Given the description of an element on the screen output the (x, y) to click on. 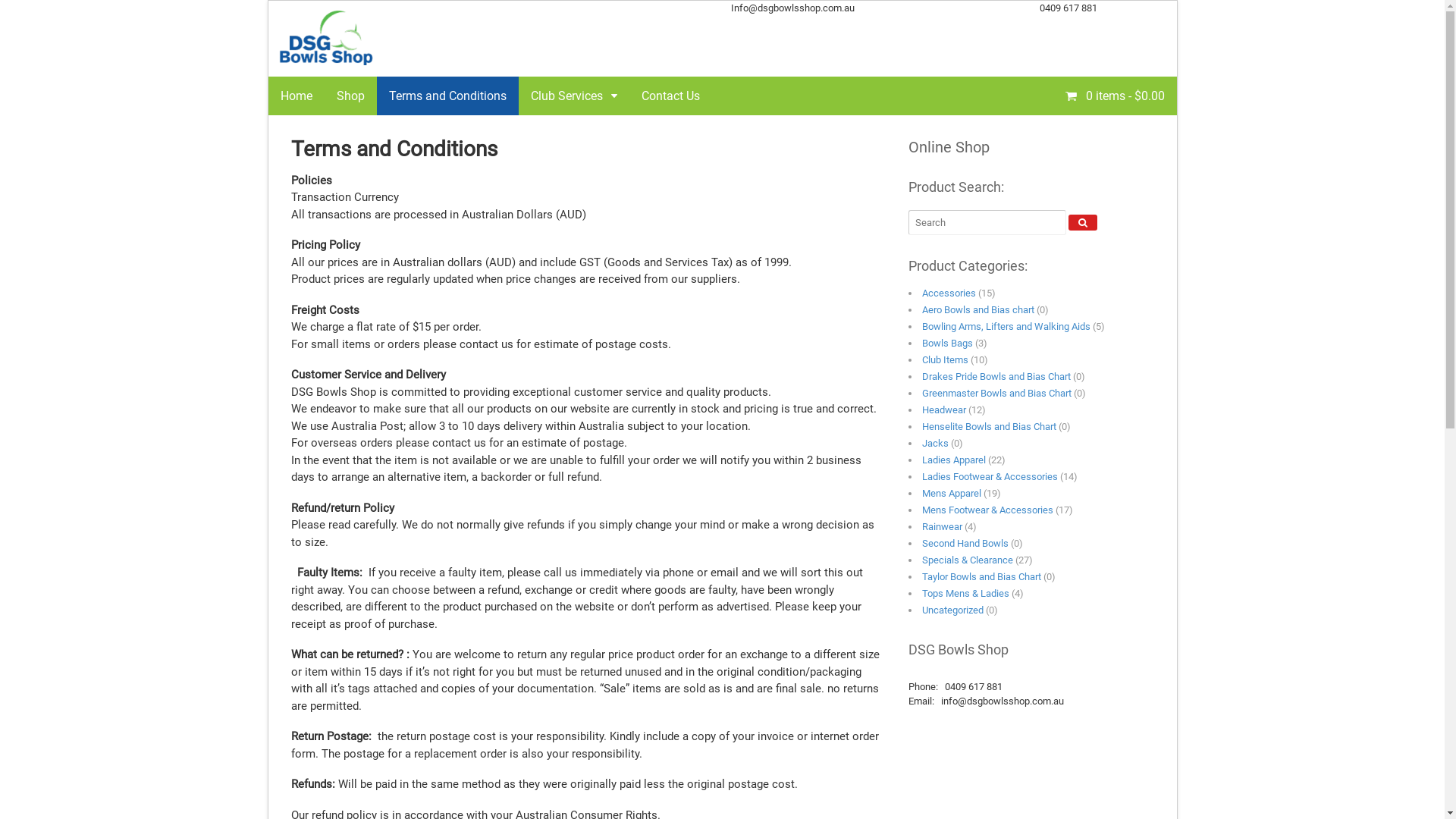
Ladies Apparel Element type: text (953, 459)
Headwear Element type: text (944, 409)
Jacks Element type: text (935, 442)
Tops Mens & Ladies Element type: text (965, 593)
0 items - $0.00 Element type: text (1114, 94)
Ladies Footwear & Accessories Element type: text (989, 476)
Specials & Clearance Element type: text (967, 559)
Second Hand Bowls Element type: text (965, 543)
Uncategorized Element type: text (952, 609)
Drakes Pride Bowls and Bias Chart Element type: text (996, 376)
Taylor Bowls and Bias Chart Element type: text (981, 576)
Club Services Element type: text (573, 95)
Terms and Conditions Element type: text (446, 95)
Bowling Arms, Lifters and Walking Aids Element type: text (1006, 326)
Home Element type: text (296, 95)
Greenmaster Bowls and Bias Chart Element type: text (996, 392)
Bowls Bags Element type: text (947, 342)
Search Element type: text (1082, 222)
Club Items Element type: text (945, 359)
Henselite Bowls and Bias Chart Element type: text (989, 426)
Mens Footwear & Accessories Element type: text (987, 509)
Rainwear Element type: text (942, 526)
Mens Apparel Element type: text (951, 492)
Contact Us Element type: text (670, 95)
Aero Bowls and Bias chart Element type: text (978, 309)
Shop Element type: text (350, 95)
Accessories Element type: text (948, 292)
